Given the description of an element on the screen output the (x, y) to click on. 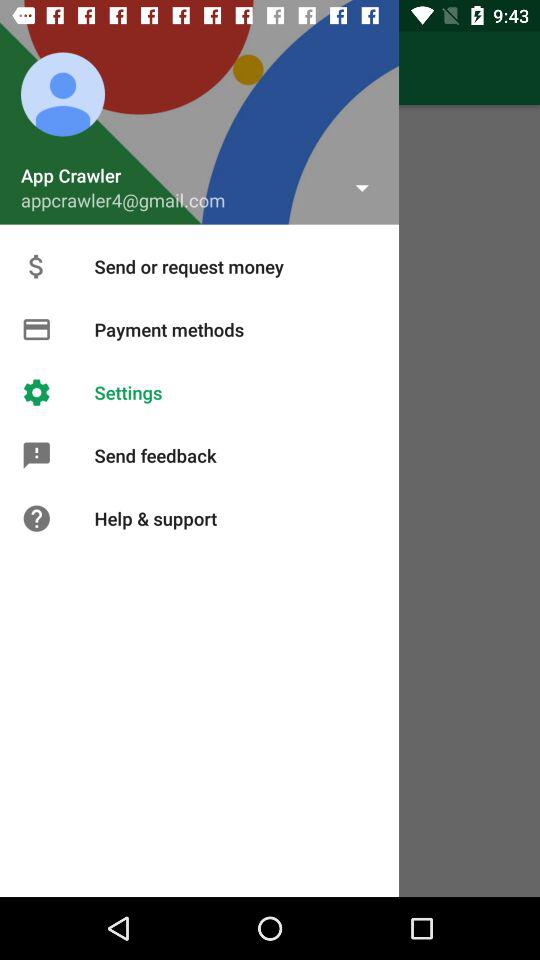
select the drop down symbol (362, 187)
